Given the description of an element on the screen output the (x, y) to click on. 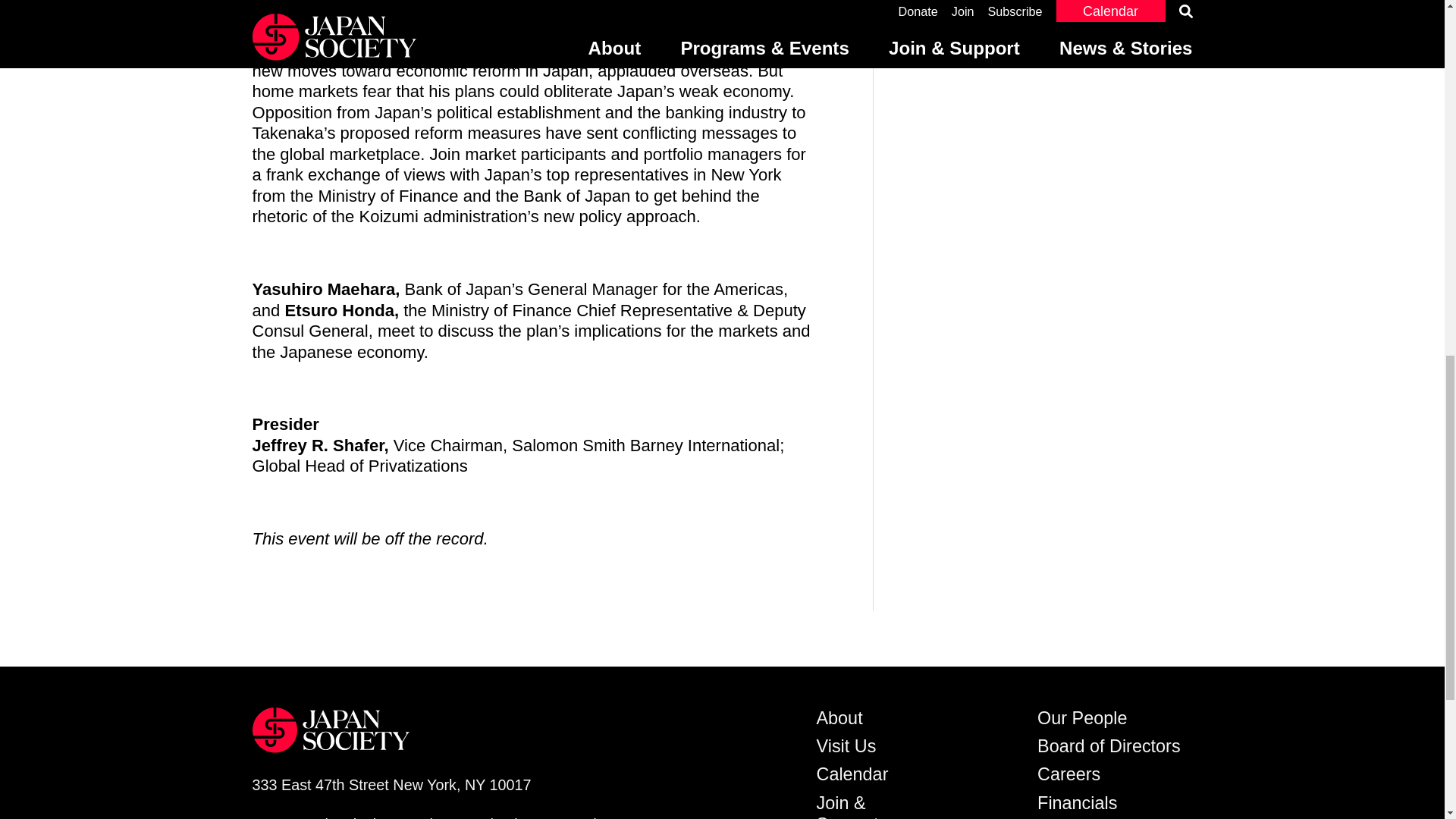
Get Direction (391, 784)
